Given the description of an element on the screen output the (x, y) to click on. 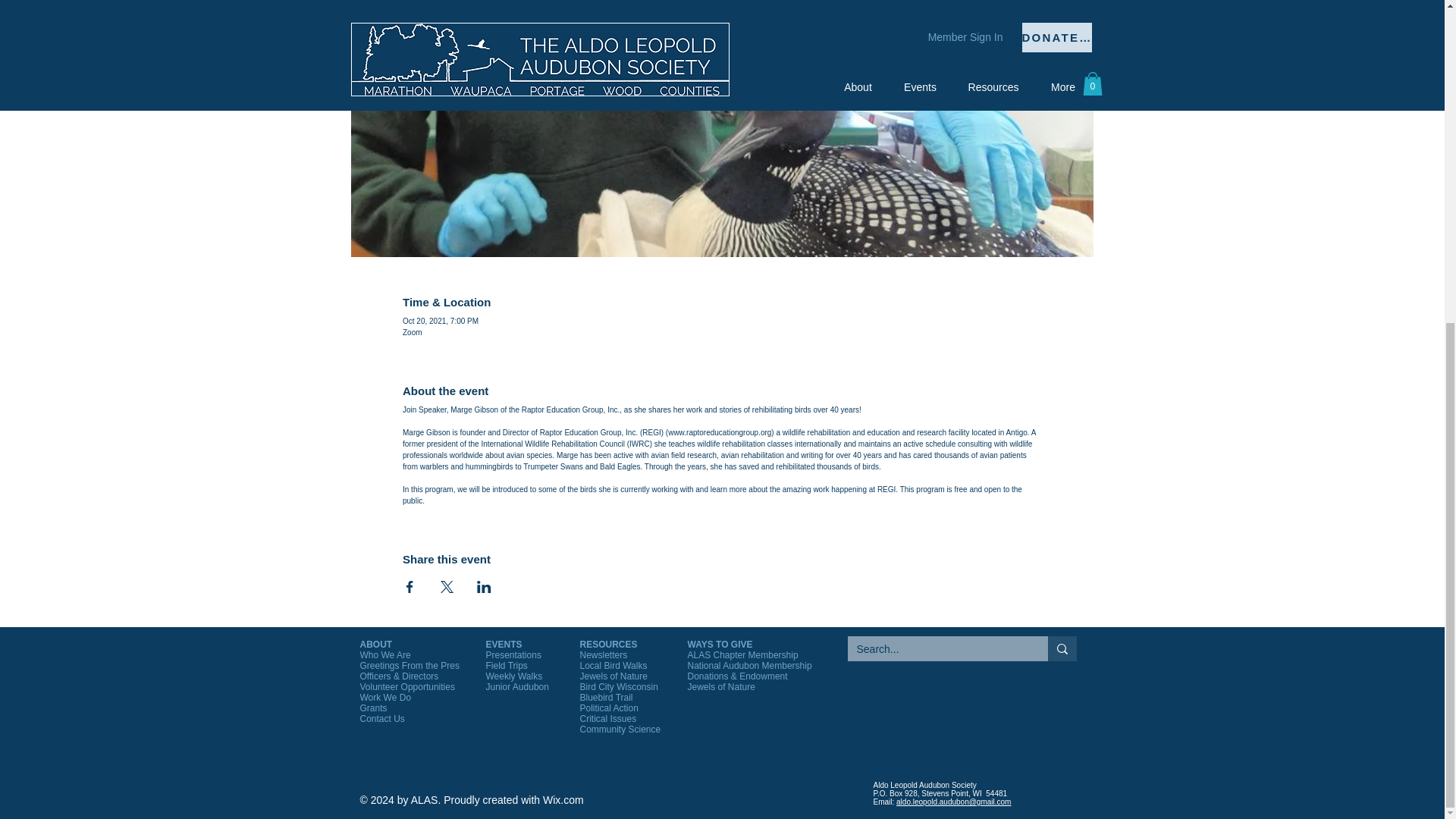
Who We Are (384, 655)
Local Bird Walks (612, 665)
Volunteer Opportunities (406, 686)
Greetings From the Pres (408, 665)
Work We Do (384, 697)
Grants (373, 707)
Contact Us (381, 718)
ABOUT (375, 644)
RESOURCES (608, 644)
Newsletters  (603, 655)
